Given the description of an element on the screen output the (x, y) to click on. 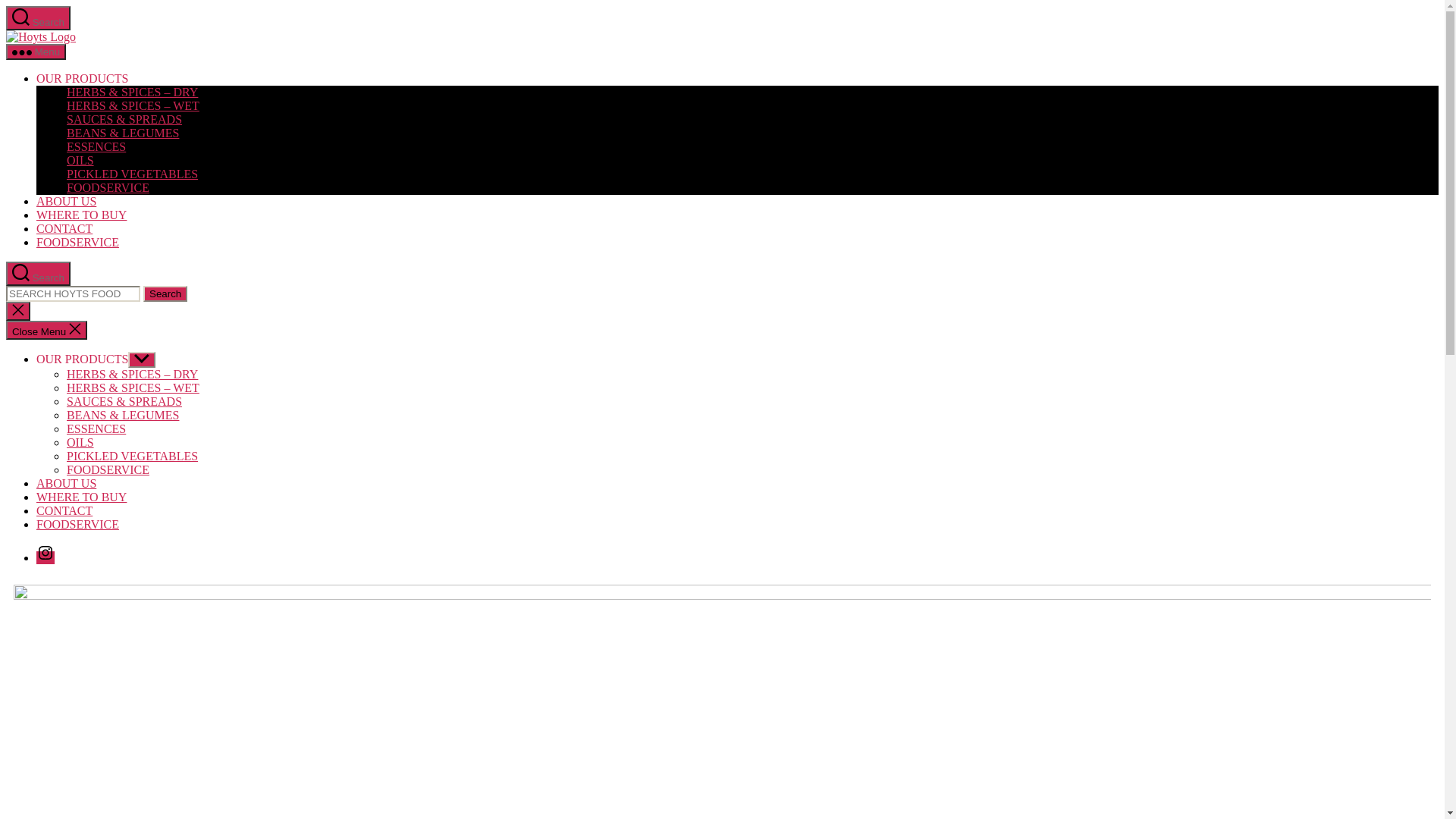
SAUCES & SPREADS Element type: text (124, 118)
CONTACT Element type: text (64, 510)
WHERE TO BUY Element type: text (81, 496)
CONTACT Element type: text (64, 228)
Search Element type: text (38, 18)
OUR PRODUCTS Element type: text (82, 78)
FOODSERVICE Element type: text (77, 523)
PICKLED VEGETABLES Element type: text (131, 173)
SAUCES & SPREADS Element type: text (124, 401)
OILS Element type: text (80, 442)
BEANS & LEGUMES Element type: text (122, 132)
OILS Element type: text (80, 159)
FOODSERVICE Element type: text (107, 469)
WHERE TO BUY Element type: text (81, 214)
FOODSERVICE Element type: text (107, 187)
ESSENCES Element type: text (95, 146)
Close Menu Element type: text (46, 329)
Menu Element type: text (35, 51)
FOODSERVICE Element type: text (77, 241)
PICKLED VEGETABLES Element type: text (131, 455)
ABOUT US Element type: text (66, 482)
Search Element type: text (165, 293)
OUR PRODUCTS Element type: text (82, 358)
ESSENCES Element type: text (95, 428)
BEANS & LEGUMES Element type: text (122, 414)
Search Element type: text (38, 273)
ABOUT US Element type: text (66, 200)
